Given the description of an element on the screen output the (x, y) to click on. 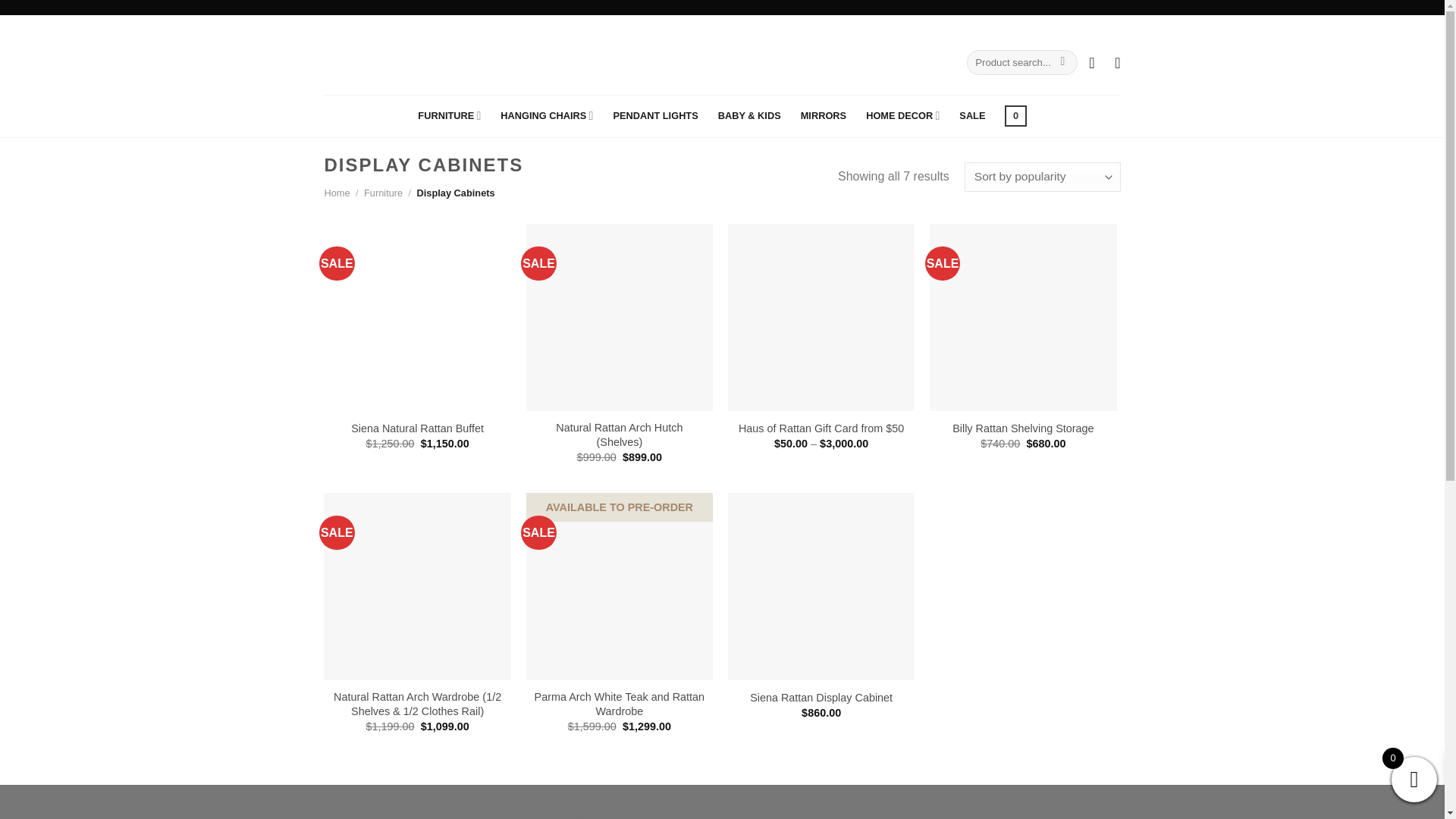
SALE (972, 115)
Furniture (383, 193)
Search (1062, 62)
HOME DECOR (902, 115)
Home (337, 193)
MIRRORS (822, 115)
PENDANT LIGHTS (654, 115)
HANGING CHAIRS (546, 115)
Siena Natural Rattan Buffet (416, 428)
FURNITURE (448, 115)
